Given the description of an element on the screen output the (x, y) to click on. 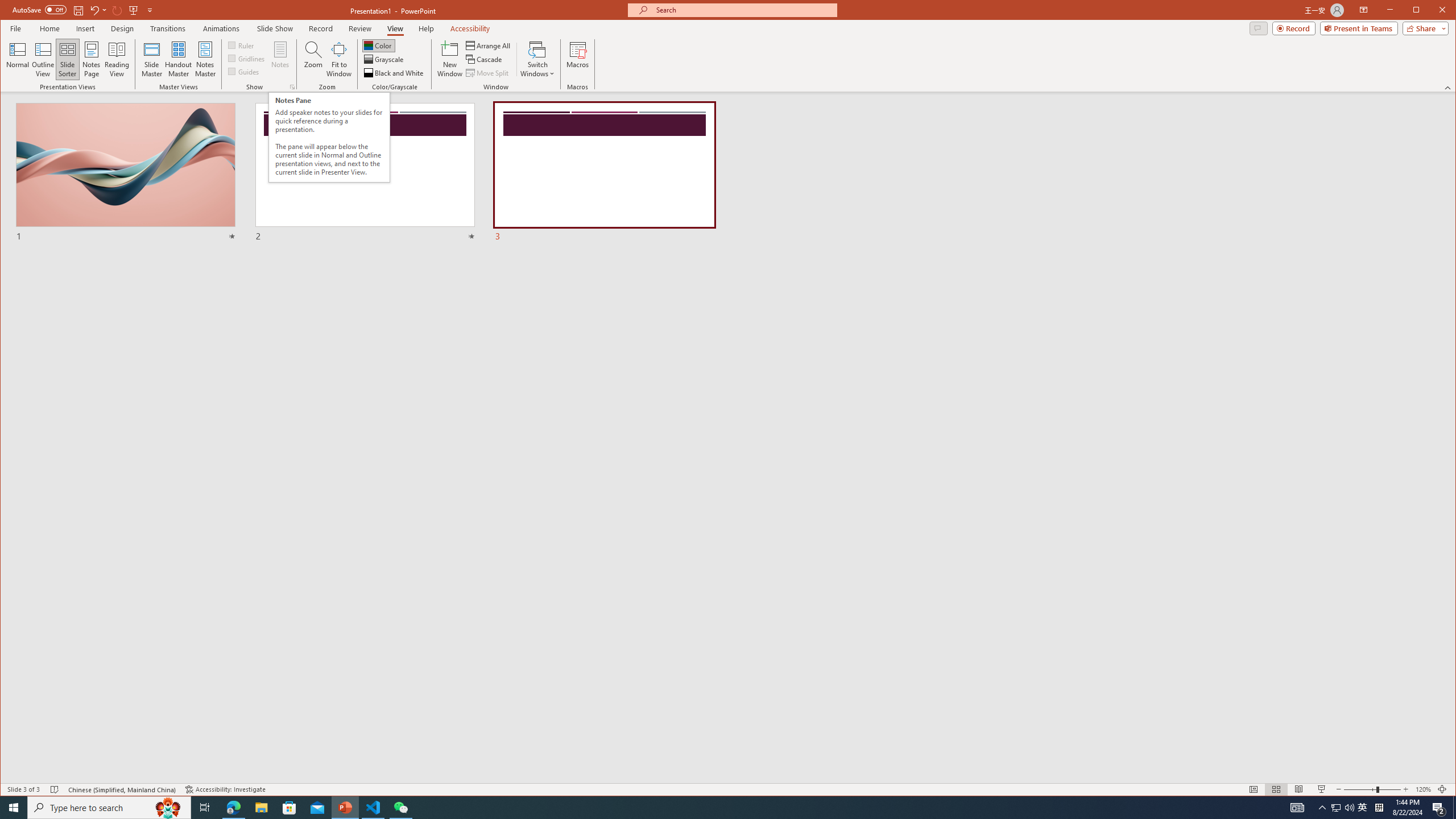
Move Split (488, 72)
Show desktop (1454, 807)
Notes (279, 59)
Microsoft Edge - 1 running window (233, 807)
Black and White (394, 72)
Zoom 120% (1422, 789)
Microsoft Store (289, 807)
Grid Settings... (292, 86)
Visual Studio Code - 1 running window (373, 807)
WeChat - 1 running window (400, 807)
